Given the description of an element on the screen output the (x, y) to click on. 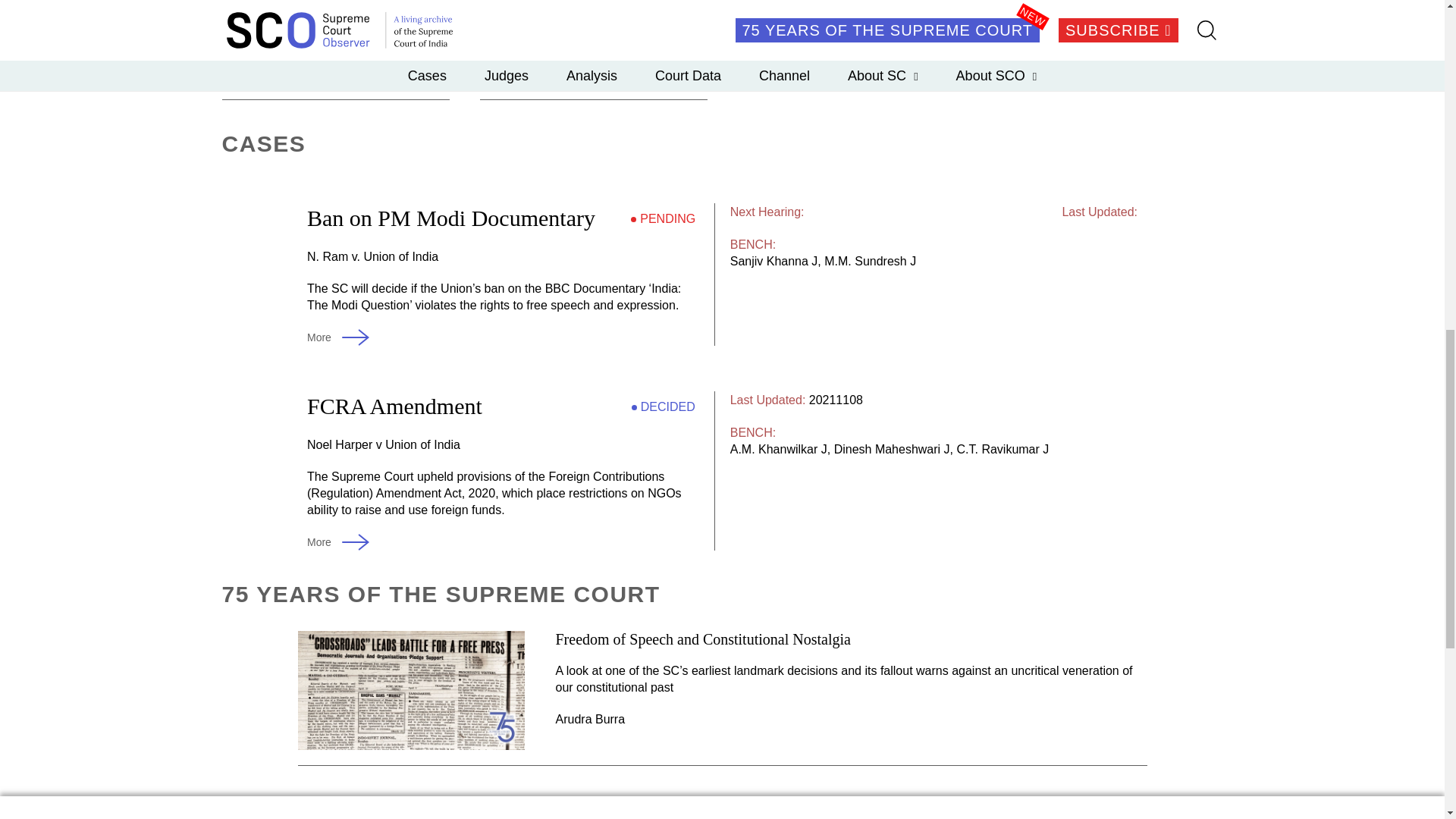
Jai Brunner (248, 33)
Kruthika R (324, 33)
